Given the description of an element on the screen output the (x, y) to click on. 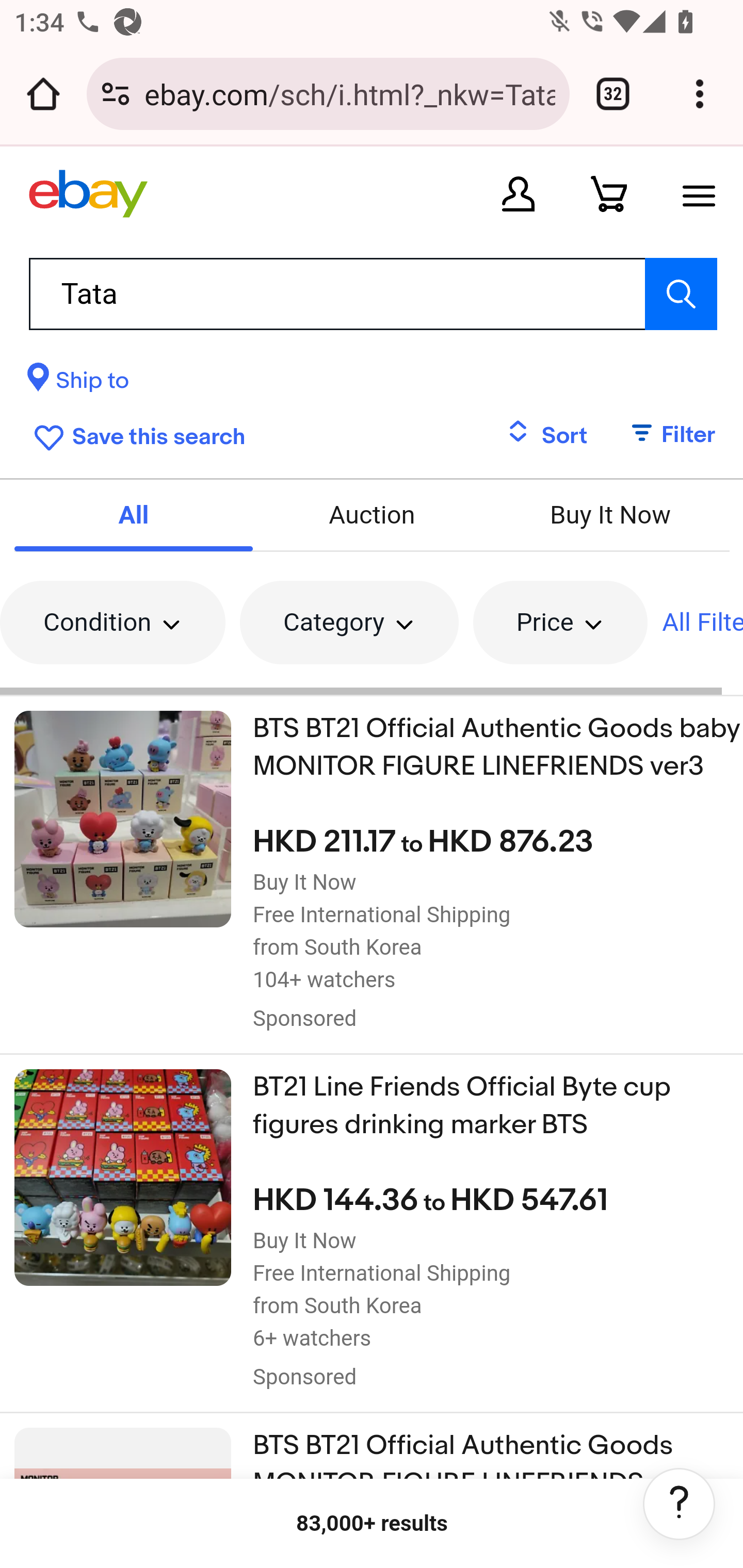
Open the home page (43, 93)
Connection is secure (115, 93)
Switch or close tabs (612, 93)
Customize and control Google Chrome (699, 93)
Open Menu (698, 193)
My eBay (518, 193)
Your shopping cart is empty (609, 193)
eBay Home (87, 193)
Tata (372, 292)
Search (680, 292)
Ship to  (77, 382)
Sort (546, 434)
Filter (662, 434)
Save this search Tata search (135, 433)
All selected (133, 515)
Auction (371, 515)
Buy It Now (611, 515)
Condition (112, 621)
Category (348, 621)
Price (559, 621)
All Filters (702, 621)
Help (678, 1503)
